Given the description of an element on the screen output the (x, y) to click on. 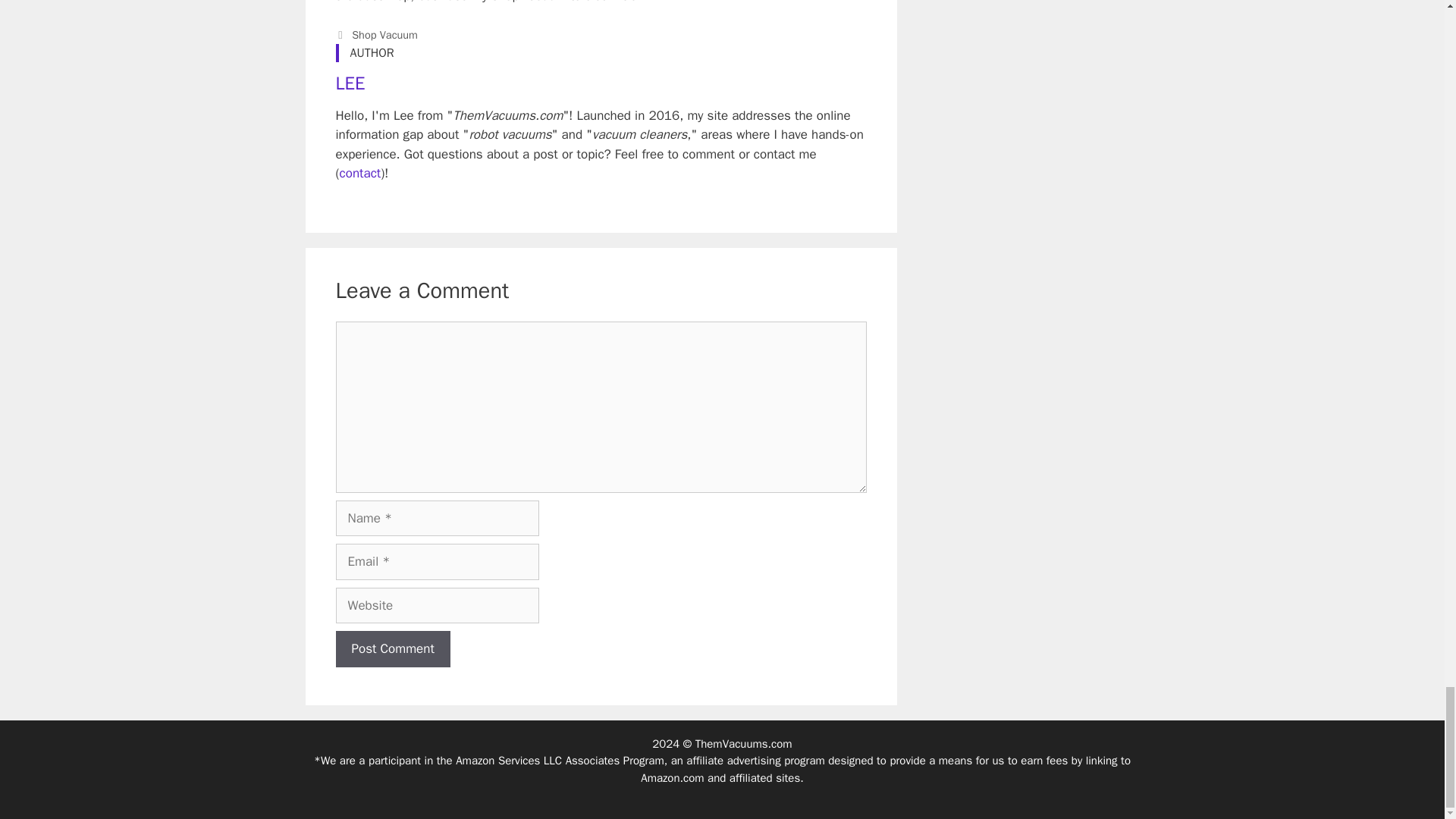
Shop Vacuum (384, 34)
Post Comment (391, 648)
Post Comment (391, 648)
contact (360, 172)
